Given the description of an element on the screen output the (x, y) to click on. 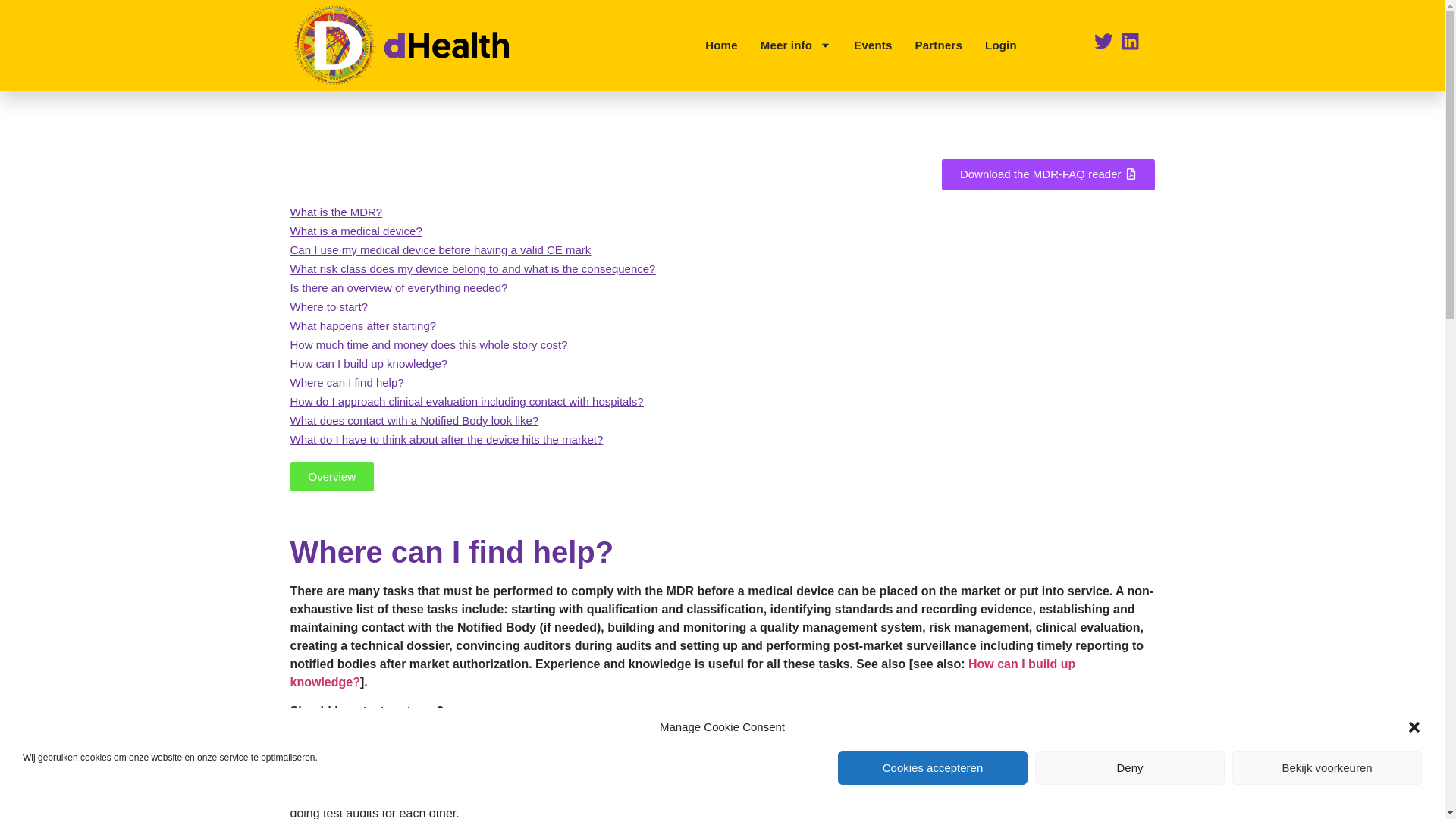
Cookies accepteren (932, 767)
Bekijk voorkeuren (1326, 767)
Meer info (795, 45)
Deny (1129, 767)
